Given the description of an element on the screen output the (x, y) to click on. 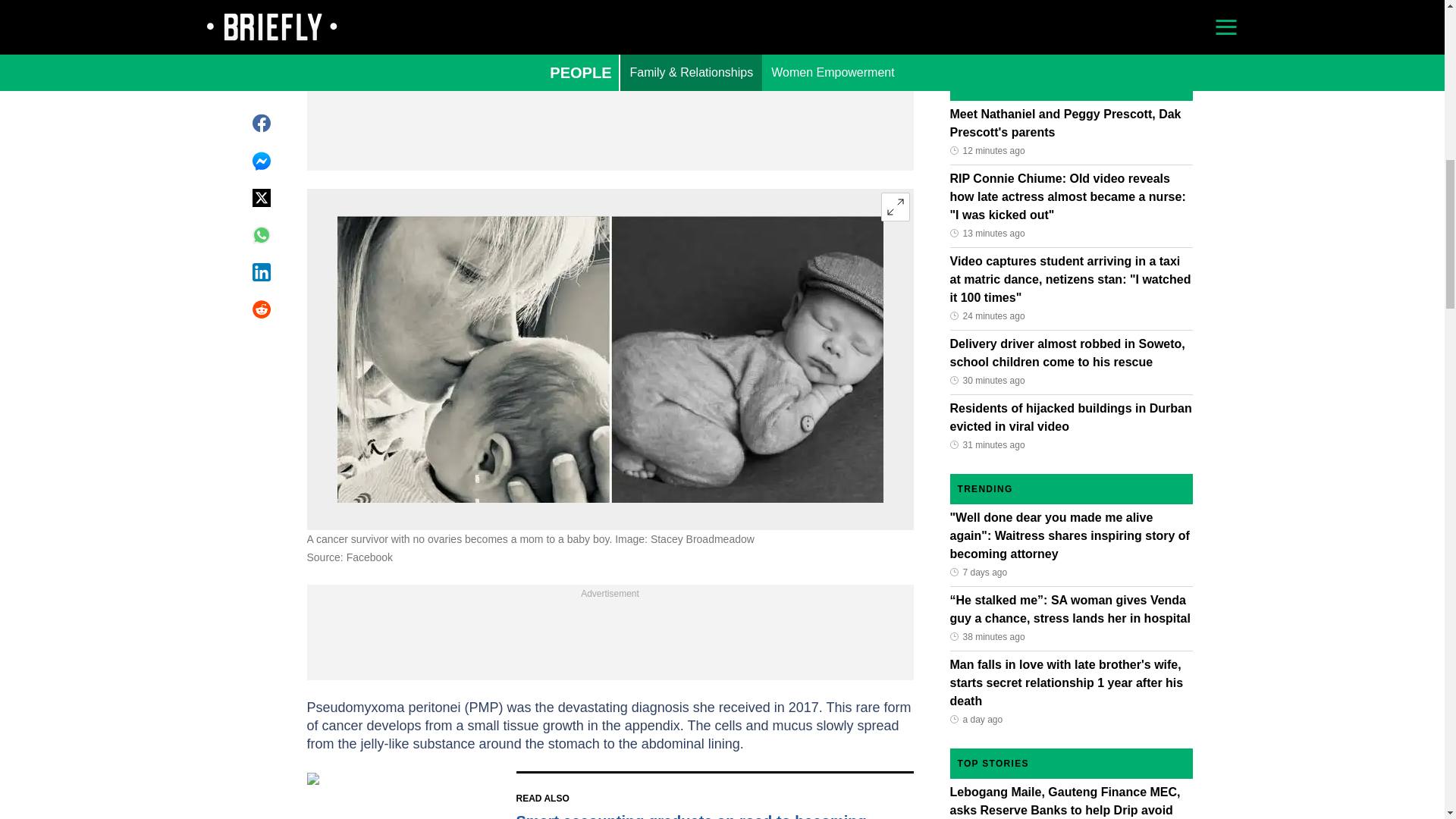
Expand image (895, 206)
